Given the description of an element on the screen output the (x, y) to click on. 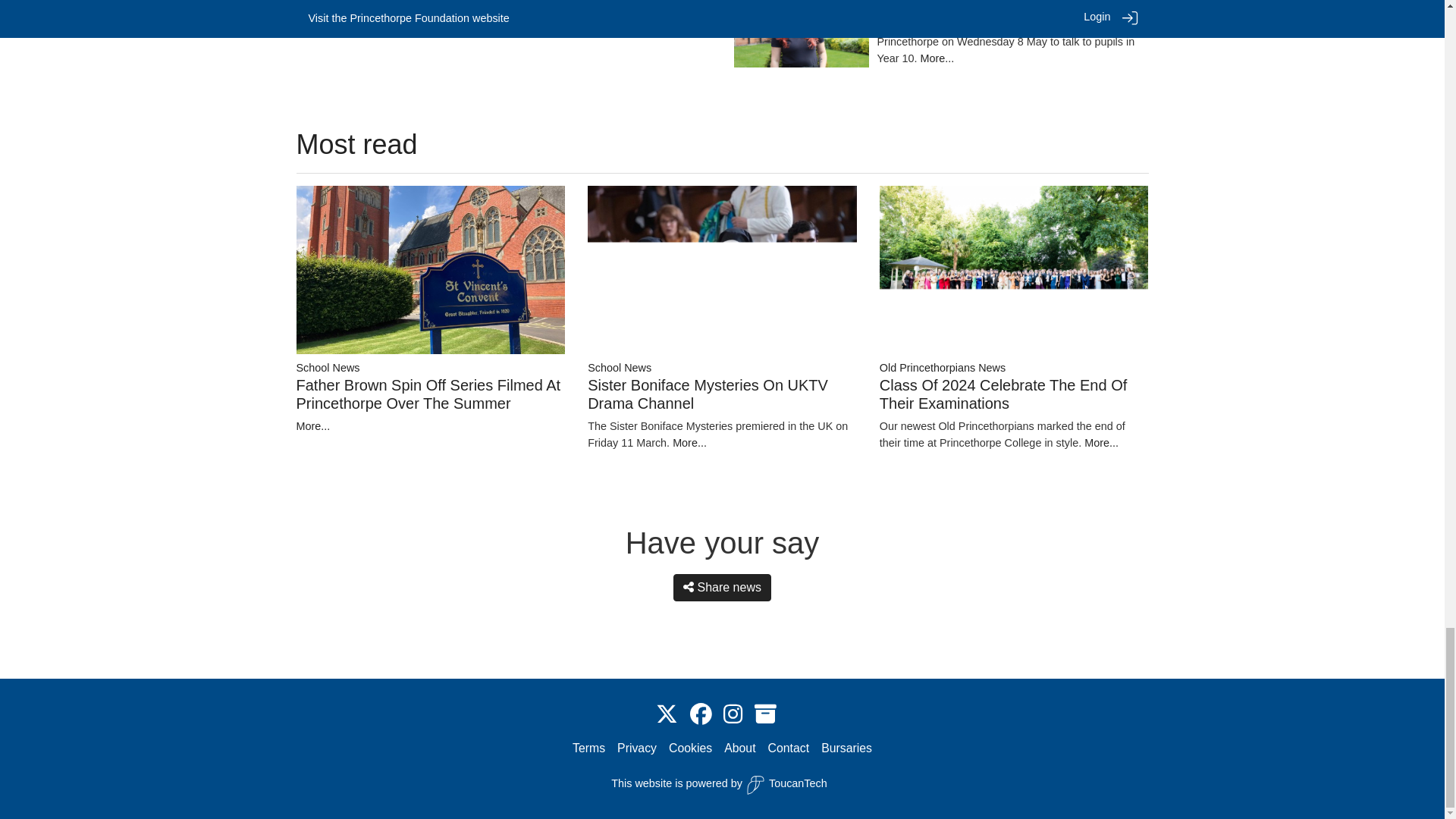
SDS Archive (765, 714)
Facebook (700, 714)
Twitter (667, 714)
